Given the description of an element on the screen output the (x, y) to click on. 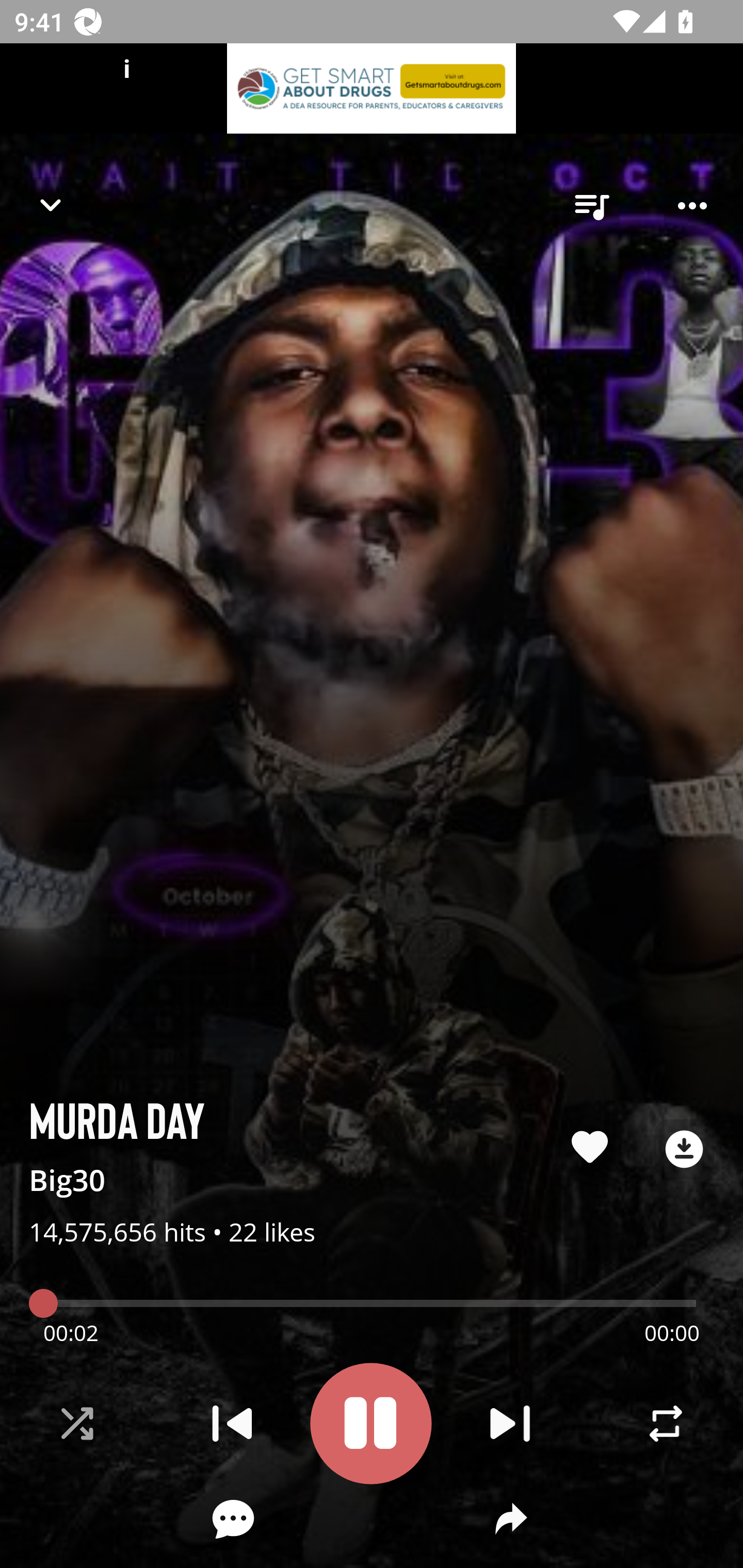
Navigate up (50, 205)
queue (590, 206)
Player options (692, 206)
